Given the description of an element on the screen output the (x, y) to click on. 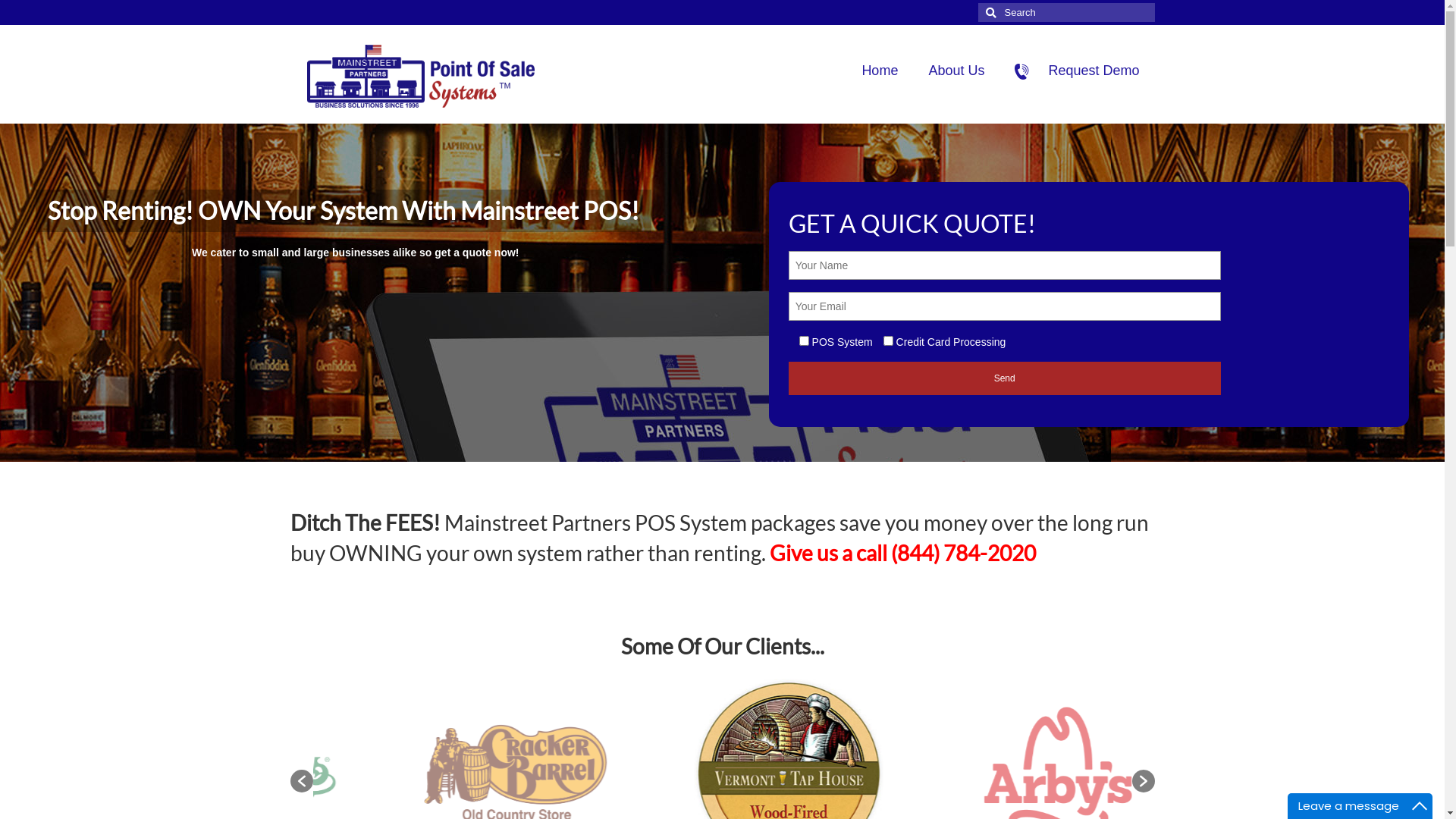
Send Element type: text (1004, 378)
About Us Element type: text (956, 70)
Request Demo Element type: text (1076, 71)
Maximize Element type: hover (1419, 806)
Home Element type: text (879, 70)
